Given the description of an element on the screen output the (x, y) to click on. 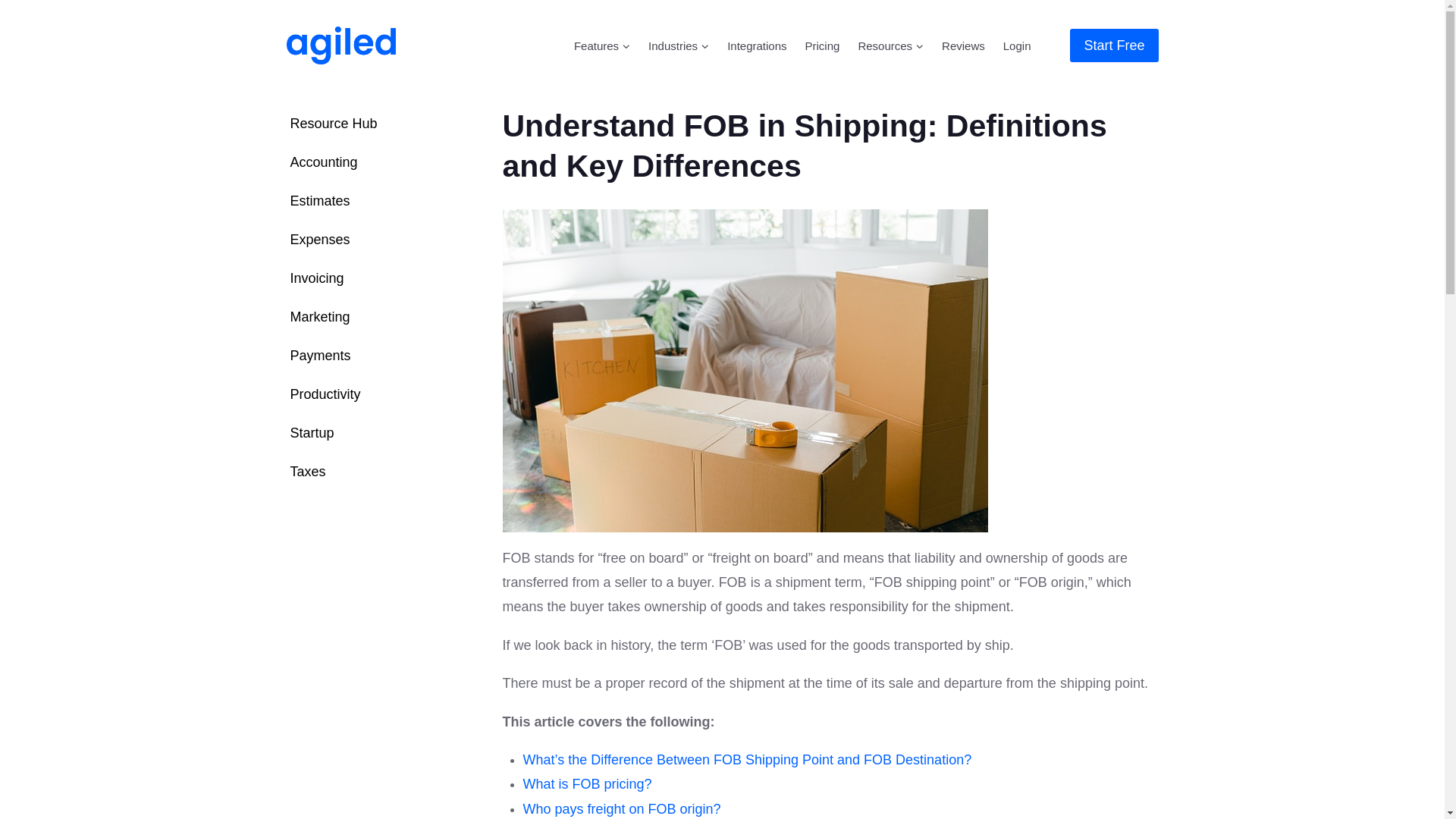
Pricing (822, 45)
Integrations (755, 45)
Industries (678, 45)
Features (601, 45)
Resources (890, 45)
